Given the description of an element on the screen output the (x, y) to click on. 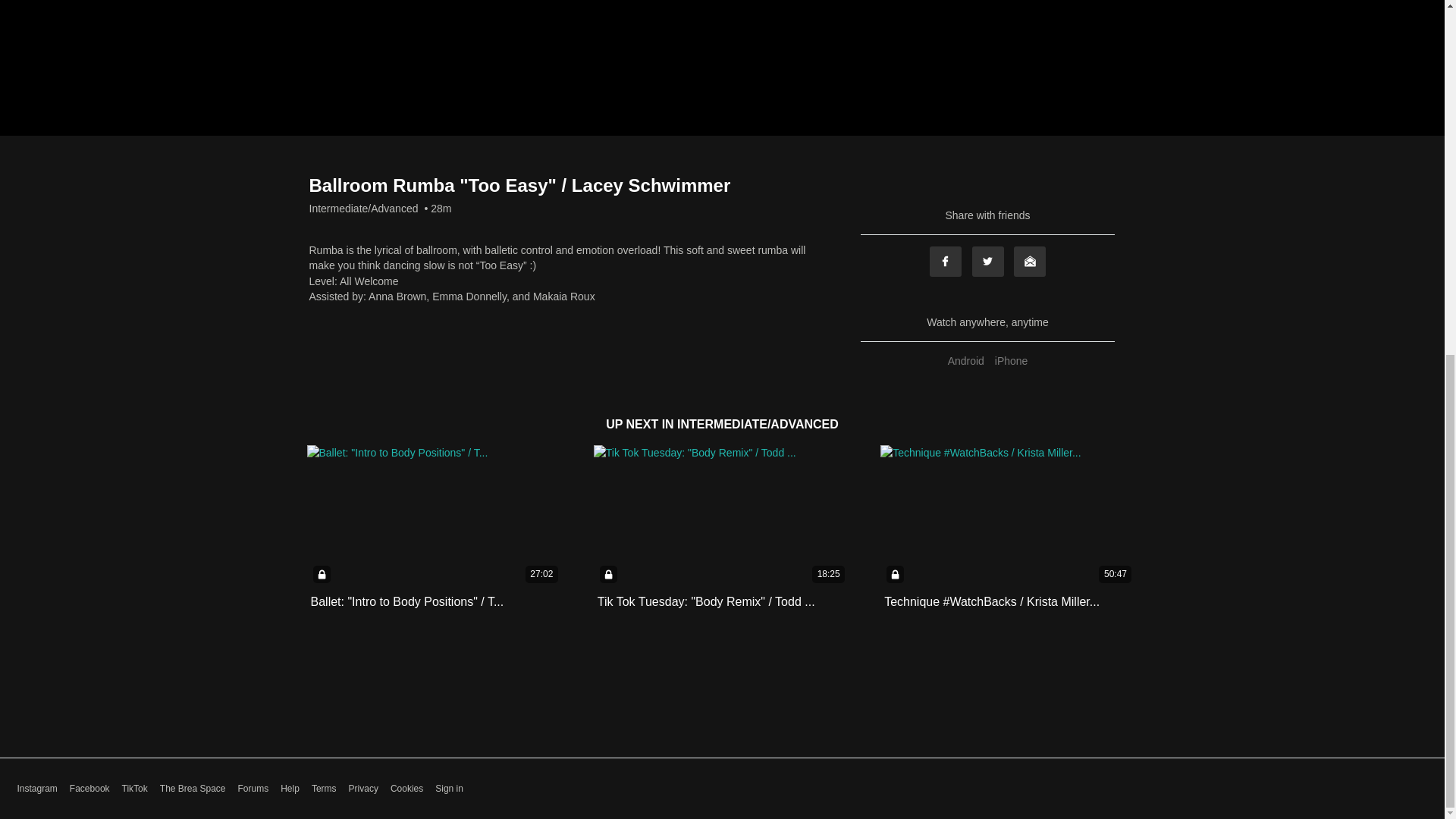
Help (290, 788)
18:25 (722, 516)
Facebook (89, 788)
Email (1029, 261)
Android (965, 360)
iPhone (1011, 360)
27:02 (434, 516)
Instagram (36, 788)
Forums (253, 788)
50:47 (1008, 516)
TikTok (135, 788)
The Brea Space (192, 788)
Facebook (945, 261)
Twitter (988, 261)
